Given the description of an element on the screen output the (x, y) to click on. 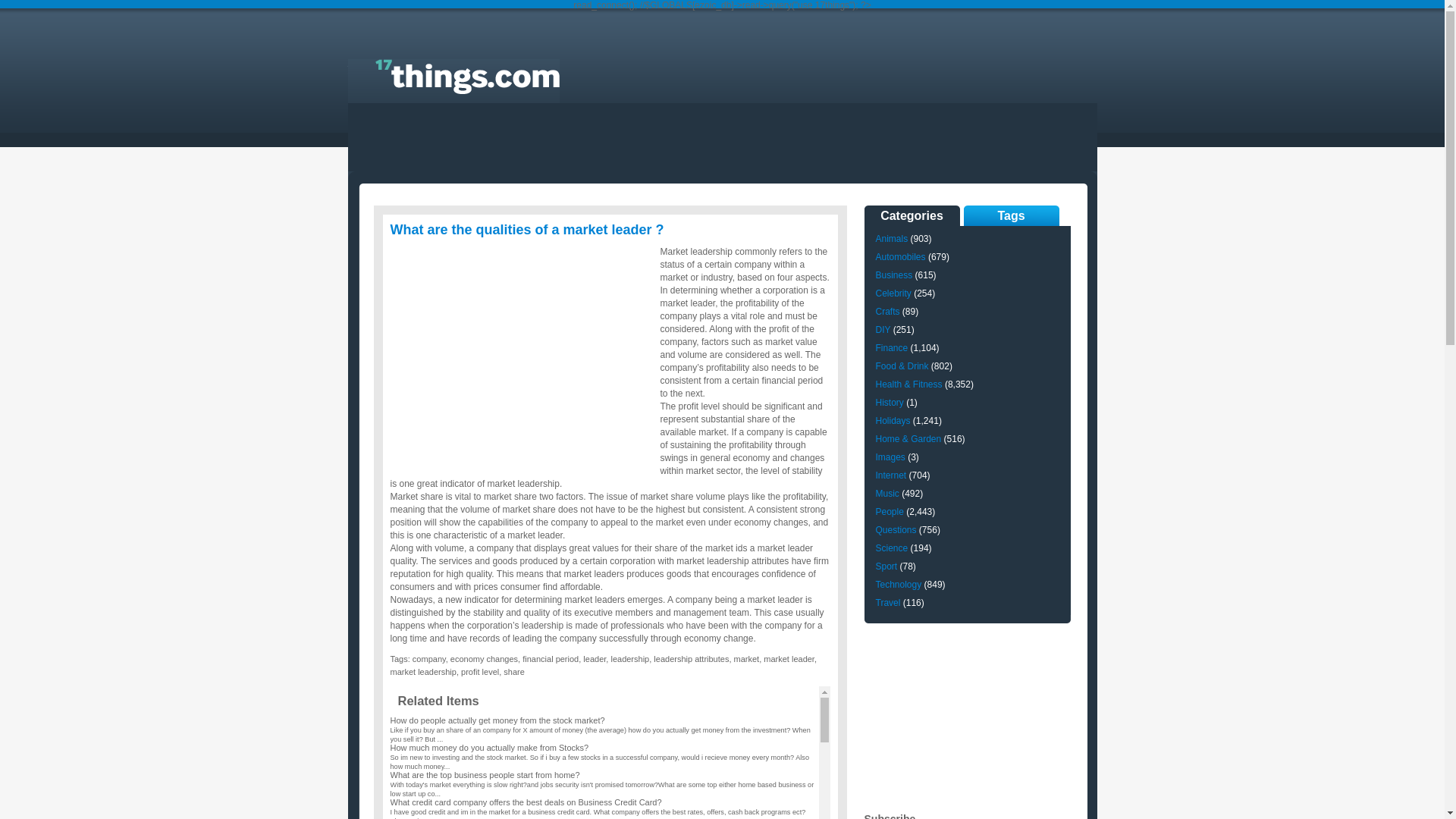
Categories Element type: text (912, 215)
Travel Element type: text (887, 602)
Business Element type: text (893, 274)
What are the top business people start from home? Element type: text (484, 774)
company Element type: text (428, 658)
What are the qualities of a market leader ? Element type: text (526, 229)
Questions Element type: text (895, 529)
leader Element type: text (594, 658)
Images Element type: text (889, 456)
DIY Element type: text (882, 329)
economy changes Element type: text (483, 658)
History Element type: text (889, 402)
Science Element type: text (891, 547)
People Element type: text (889, 511)
Technology Element type: text (898, 584)
market leader Element type: text (788, 658)
Crafts Element type: text (887, 311)
market leadership Element type: text (422, 671)
Music Element type: text (886, 493)
Home & Garden Element type: text (908, 438)
leadership attributes Element type: text (690, 658)
financial period Element type: text (550, 658)
share Element type: text (513, 671)
Animals Element type: text (891, 238)
Tags Element type: text (1010, 215)
Sport Element type: text (886, 566)
Food & Drink Element type: text (901, 365)
profit level Element type: text (479, 671)
Automobiles Element type: text (900, 256)
market Element type: text (746, 658)
How do people actually get money from the stock market? Element type: text (496, 719)
Finance Element type: text (891, 347)
leadership Element type: text (629, 658)
How much money do you actually make from Stocks? Element type: text (488, 747)
Health & Fitness Element type: text (908, 384)
Internet Element type: text (890, 475)
Holidays Element type: text (892, 420)
Celebrity Element type: text (892, 293)
